Given the description of an element on the screen output the (x, y) to click on. 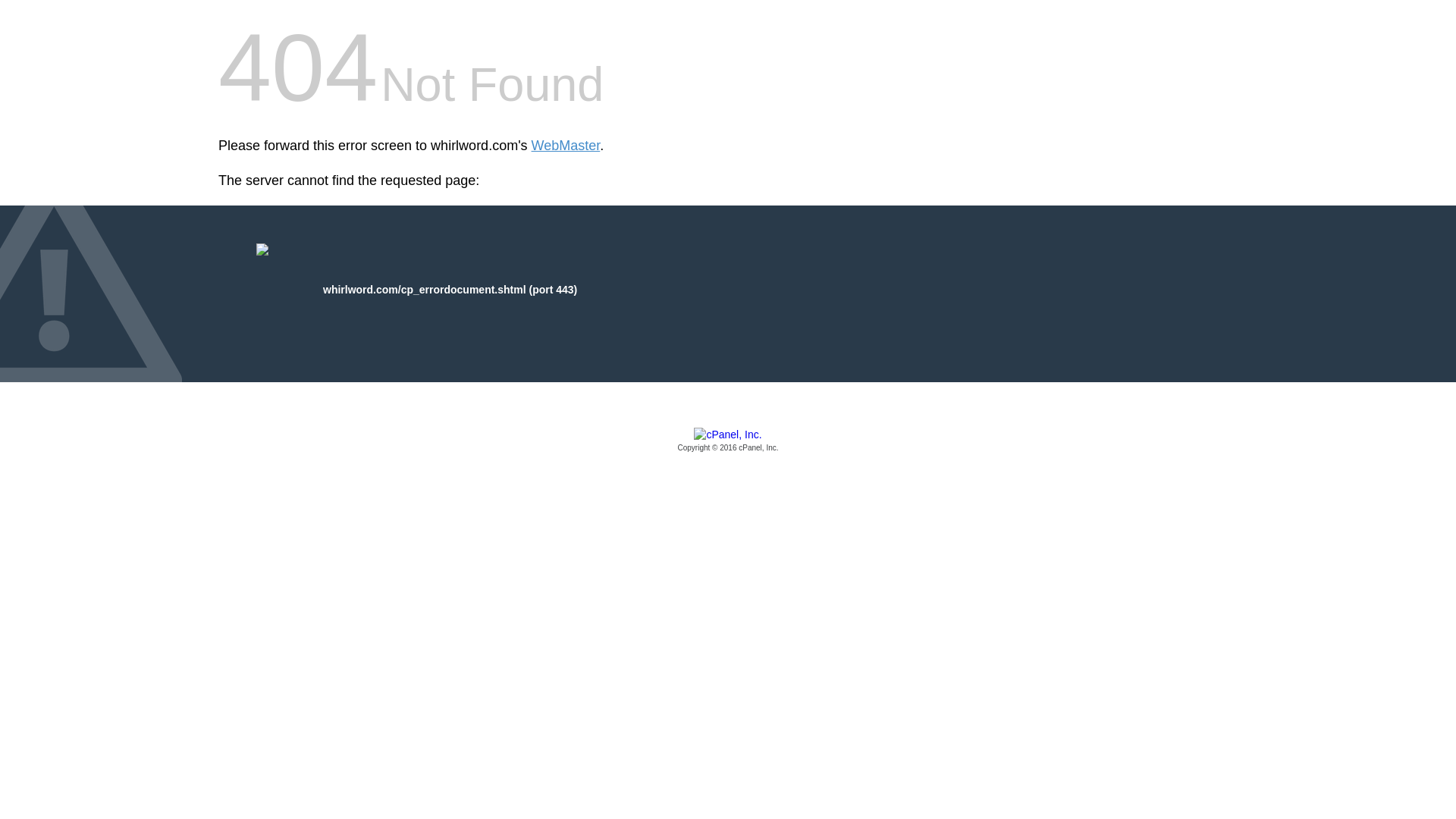
cPanel, Inc. (727, 440)
WebMaster (565, 145)
